Given the description of an element on the screen output the (x, y) to click on. 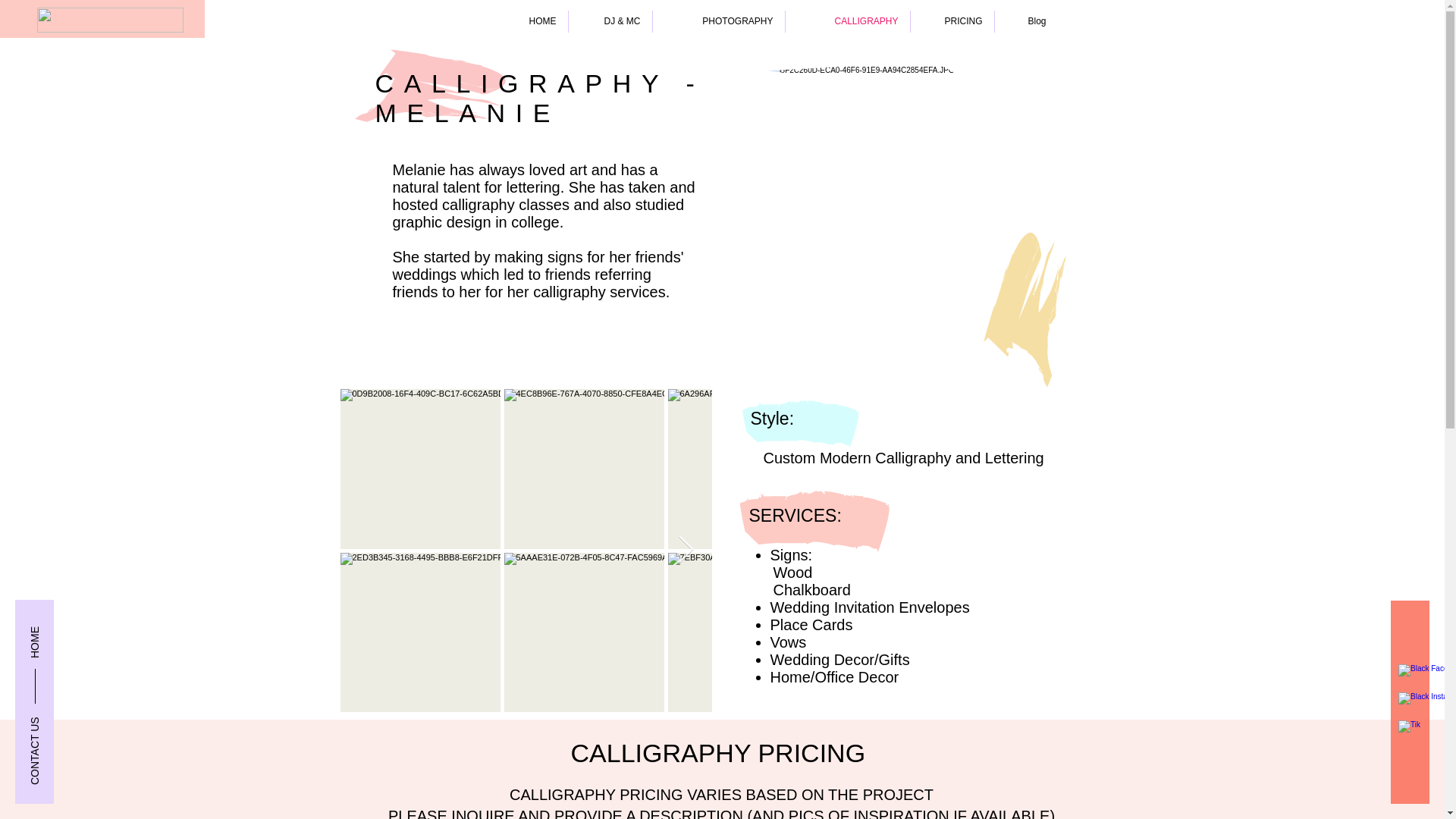
HOME (54, 622)
CONTACT US (58, 726)
CALLIGRAPHY (848, 21)
PHOTOGRAPHY (718, 21)
PRICING (951, 21)
HOME (534, 21)
Blog (1026, 21)
